Given the description of an element on the screen output the (x, y) to click on. 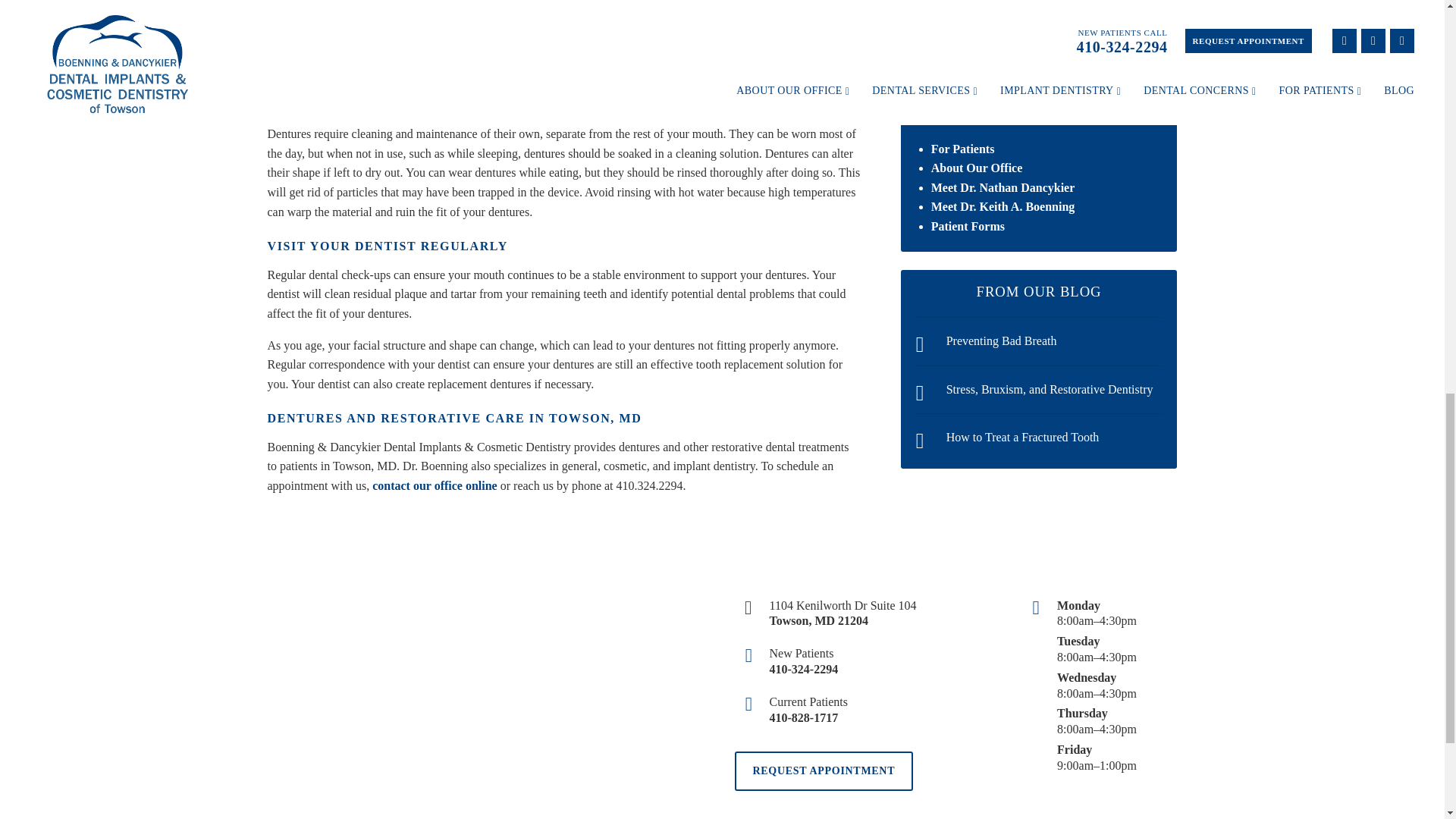
Baltimore's Top Dentist 2022 (1038, 27)
